Given the description of an element on the screen output the (x, y) to click on. 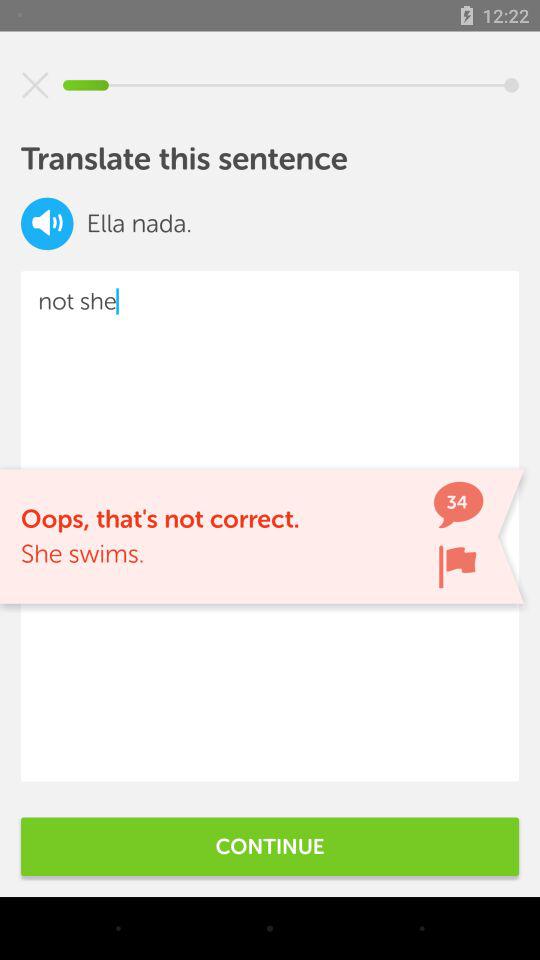
press icon next to the ella (47, 223)
